Given the description of an element on the screen output the (x, y) to click on. 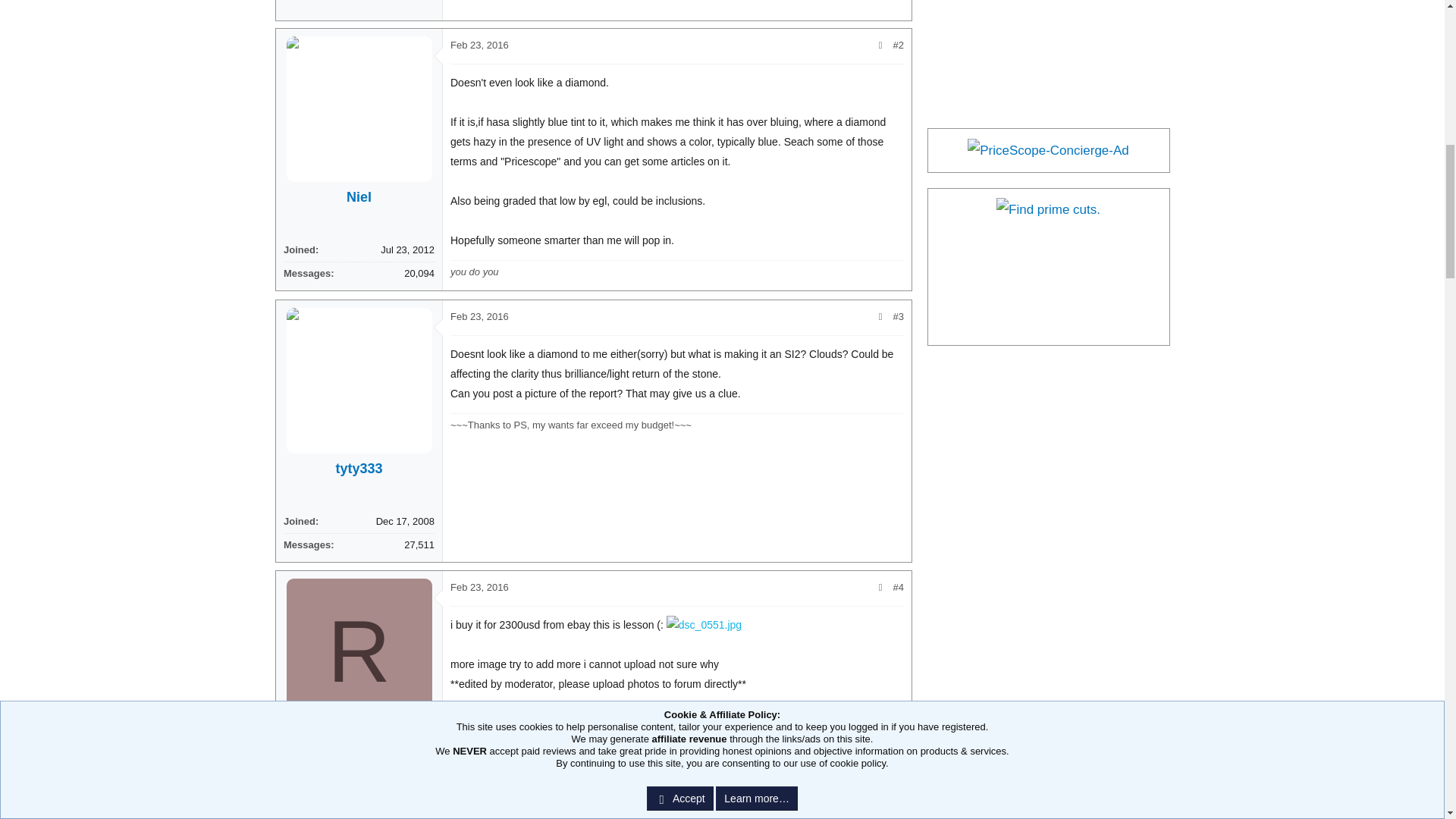
Feb 23, 2016 at 7:10 AM (478, 44)
Feb 23, 2016 at 7:28 AM (478, 316)
Feb 23, 2016 at 7:38 AM (478, 586)
